Given the description of an element on the screen output the (x, y) to click on. 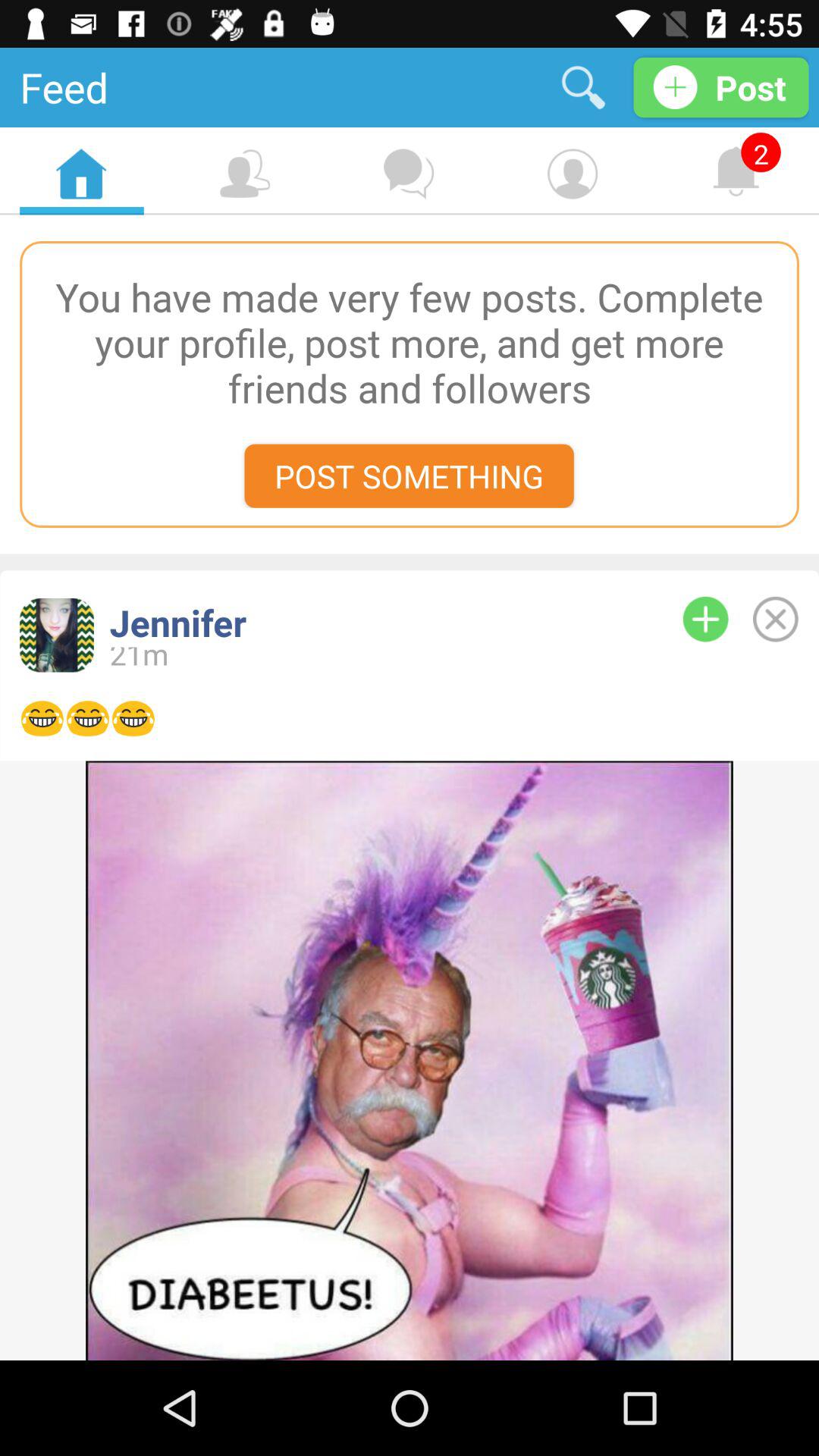
choose the item below the you have made (408, 475)
